Given the description of an element on the screen output the (x, y) to click on. 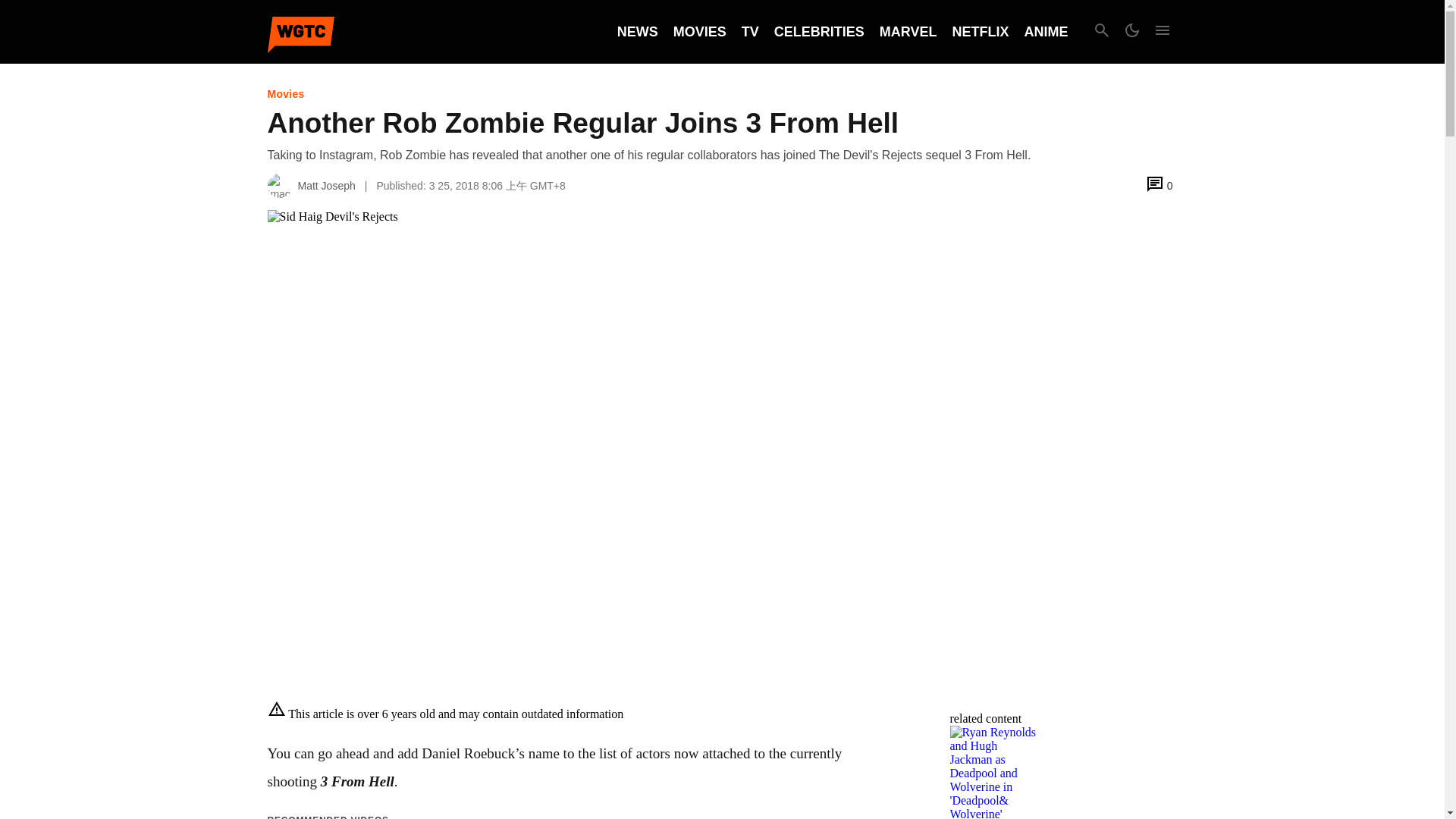
MOVIES (699, 31)
MARVEL (908, 31)
ANIME (1045, 31)
TV (749, 31)
CELEBRITIES (819, 31)
Dark Mode (1131, 31)
Search (1101, 31)
NETFLIX (980, 31)
NEWS (637, 31)
Expand Menu (1161, 31)
